Given the description of an element on the screen output the (x, y) to click on. 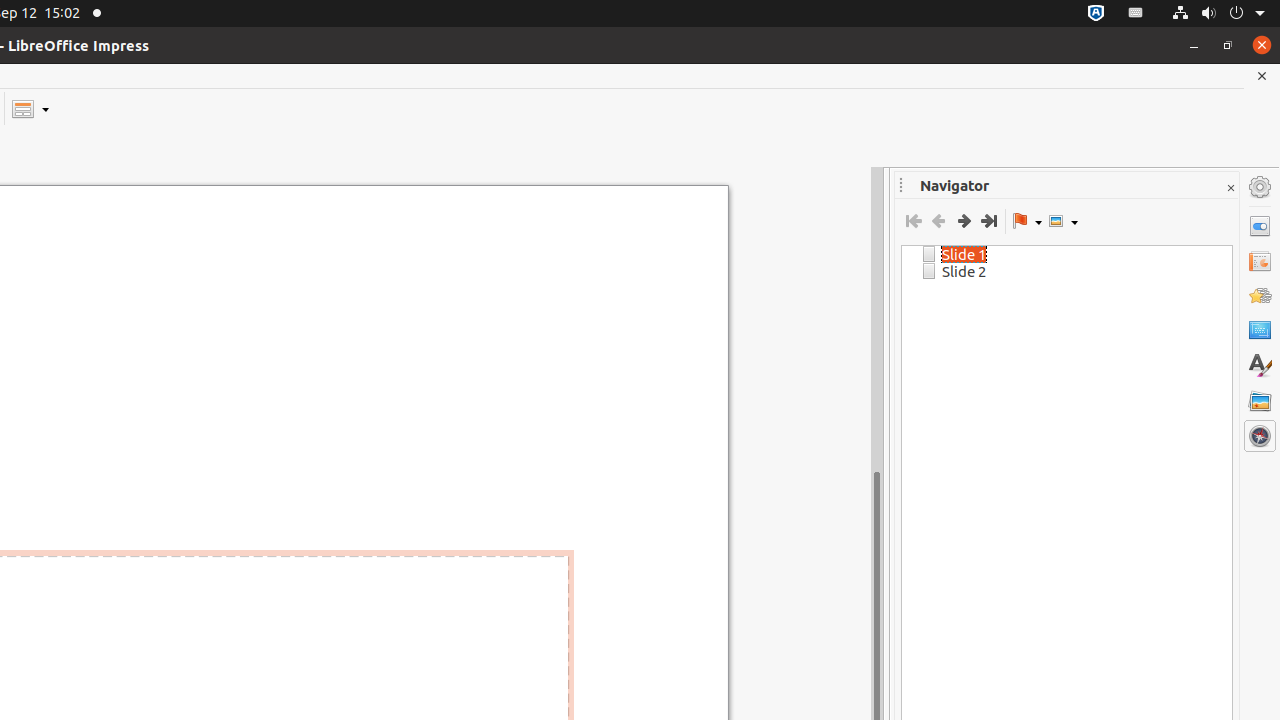
Close Sidebar Deck Element type: push-button (1230, 188)
Navigator Element type: radio-button (1260, 436)
